Given the description of an element on the screen output the (x, y) to click on. 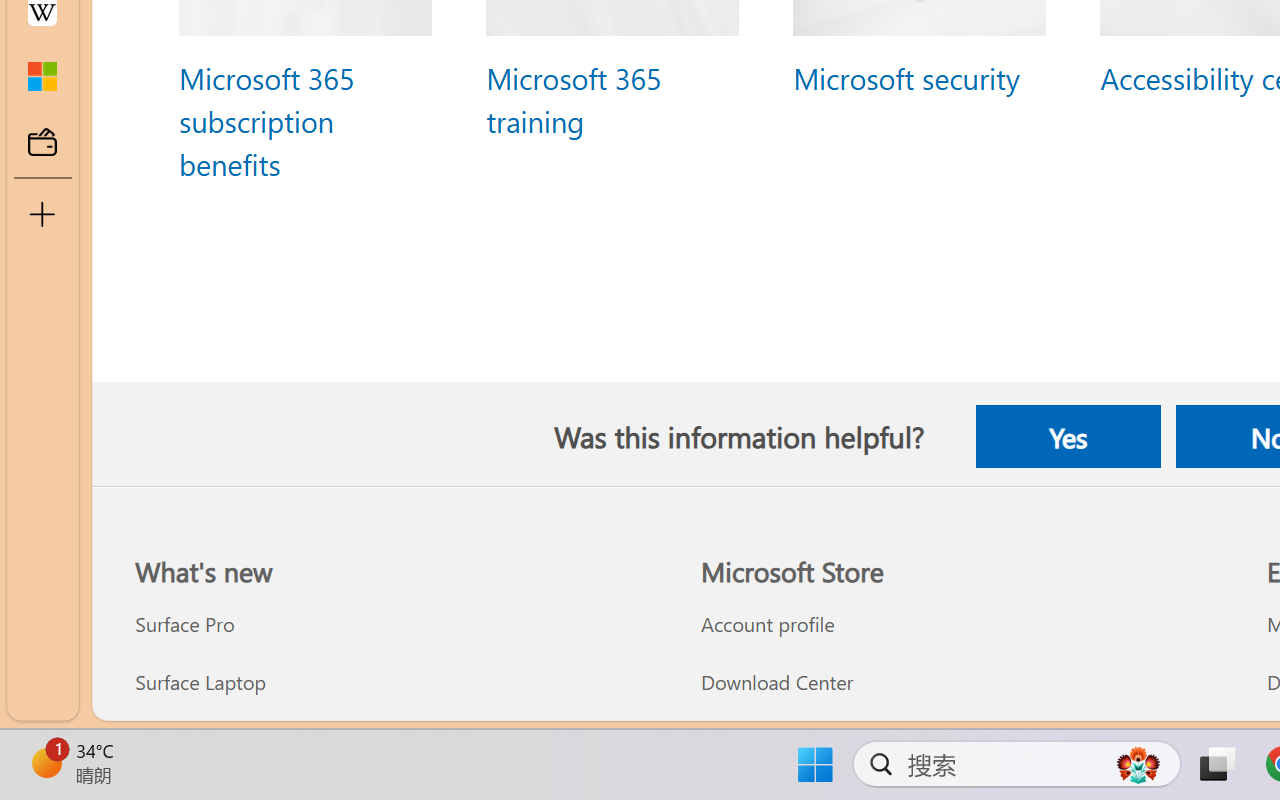
Microsoft Store support (961, 739)
Download Center Microsoft Store (776, 681)
Yes (1067, 436)
Microsoft 365 training (572, 98)
Microsoft security (905, 76)
Download Center (961, 681)
Surface Laptop (395, 681)
Surface Pro What's new (184, 624)
Surface Pro (395, 624)
Account profile Microsoft Store (767, 624)
